Given the description of an element on the screen output the (x, y) to click on. 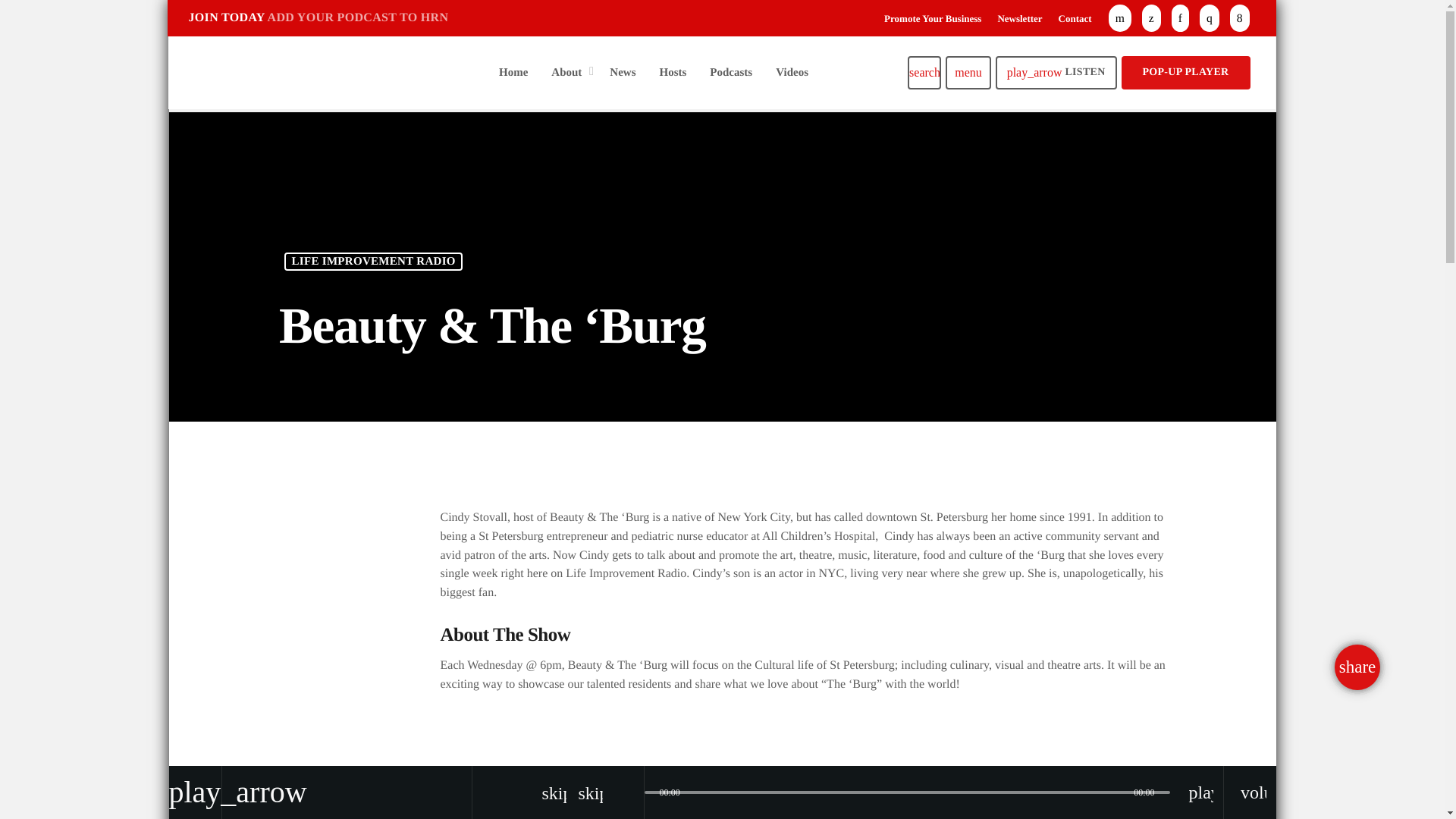
JOIN TODAY ADD YOUR PODCAST TO HRN (322, 17)
Newsletter (1018, 17)
Contact (1075, 17)
Home (512, 72)
Podcasts (731, 72)
menu (967, 72)
Videos (792, 72)
search (923, 72)
Hosts (672, 72)
About (569, 72)
News (622, 72)
Promote Your Business (933, 17)
POP-UP PLAYER (1185, 72)
